Given the description of an element on the screen output the (x, y) to click on. 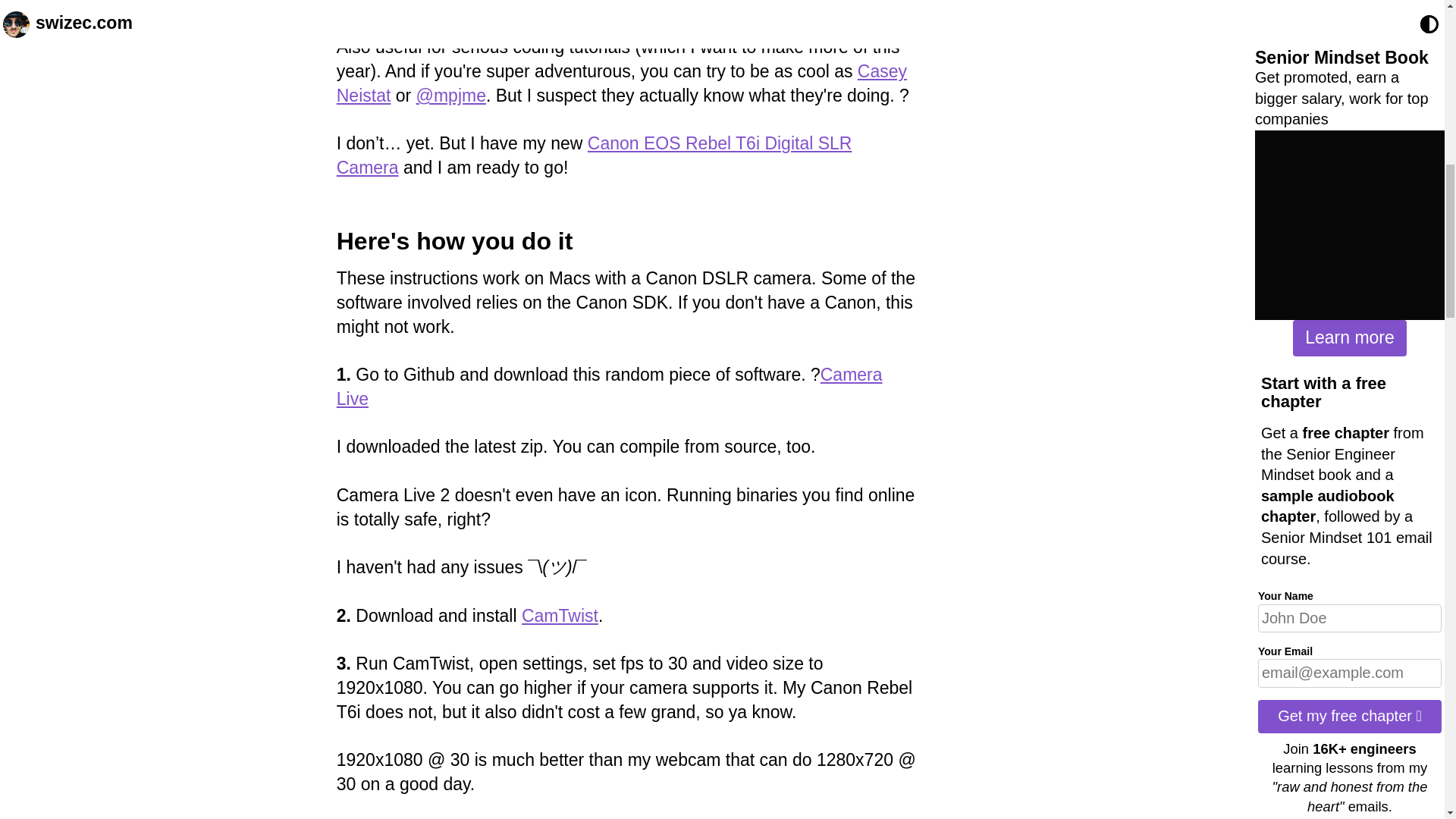
Casey Neistat (621, 83)
Here's how you do it (454, 240)
Camera Live (609, 386)
CamTwist (559, 615)
Canon EOS Rebel T6i Digital SLR Camera (593, 155)
